Given the description of an element on the screen output the (x, y) to click on. 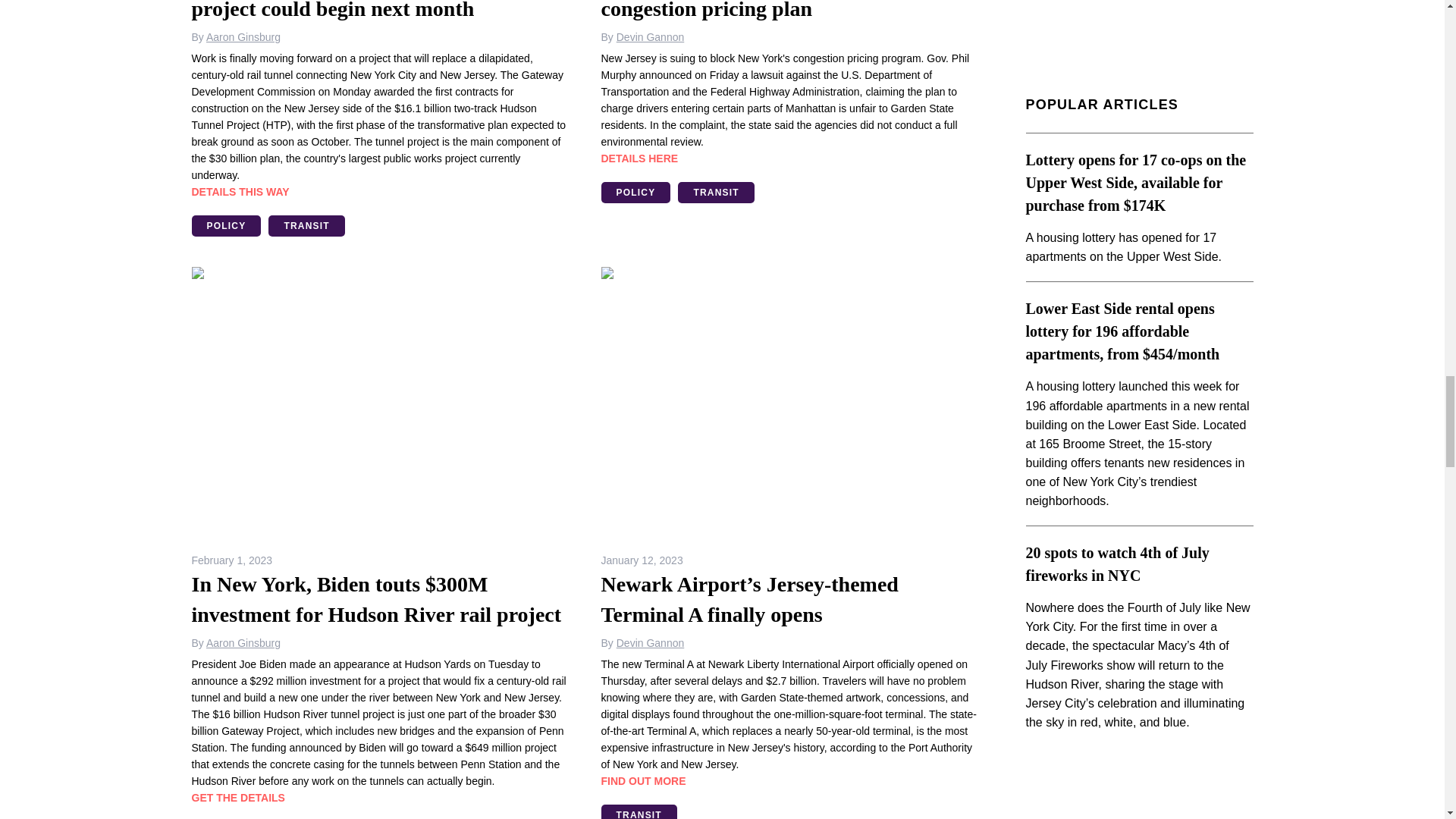
Posts by Aaron Ginsburg (243, 37)
